Given the description of an element on the screen output the (x, y) to click on. 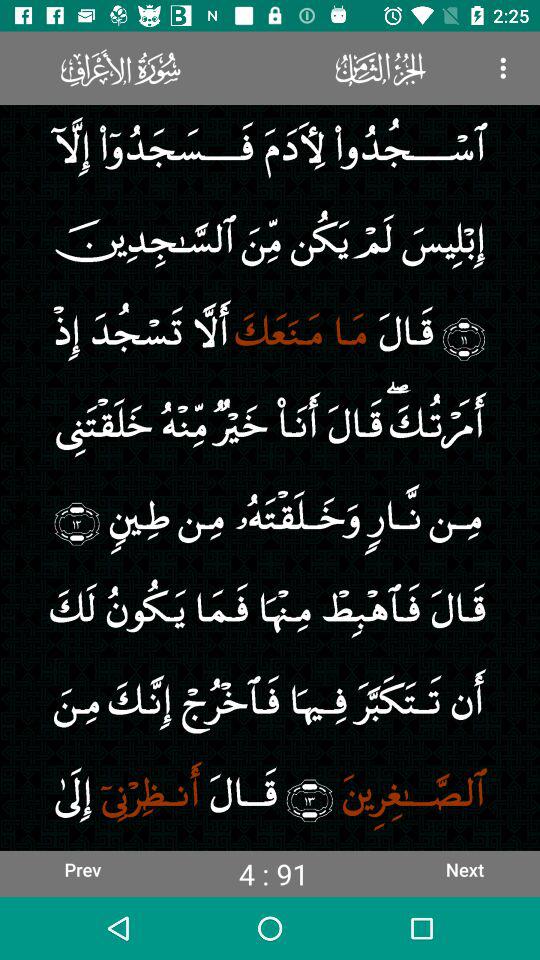
press the icon to the left of 4 : 91 (82, 869)
